Given the description of an element on the screen output the (x, y) to click on. 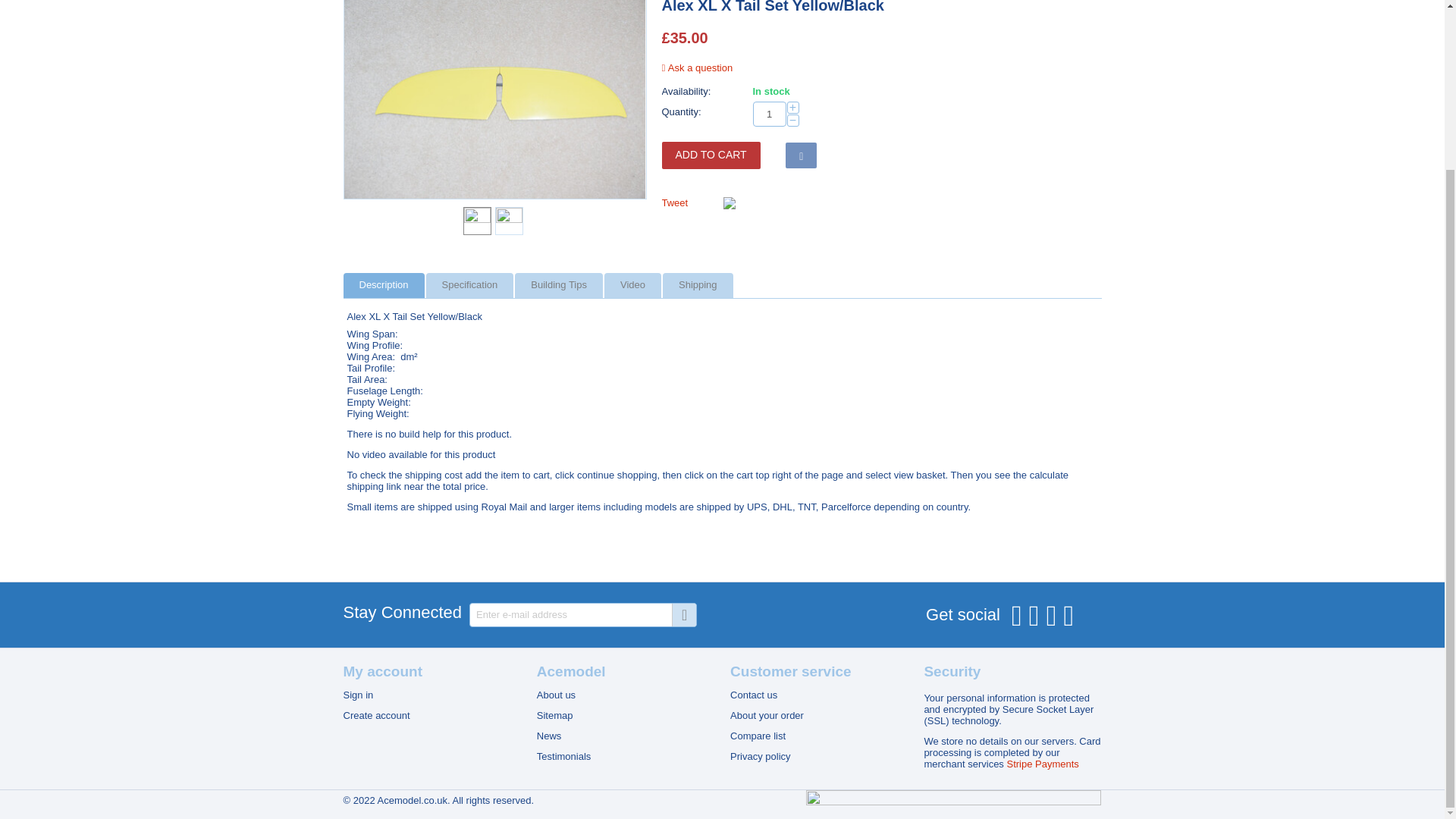
Go (683, 614)
1 (769, 113)
Secure Payments via Stripe (1042, 763)
Add to wish list (801, 155)
Enter e-mail address (582, 614)
Ask a question (696, 67)
